Given the description of an element on the screen output the (x, y) to click on. 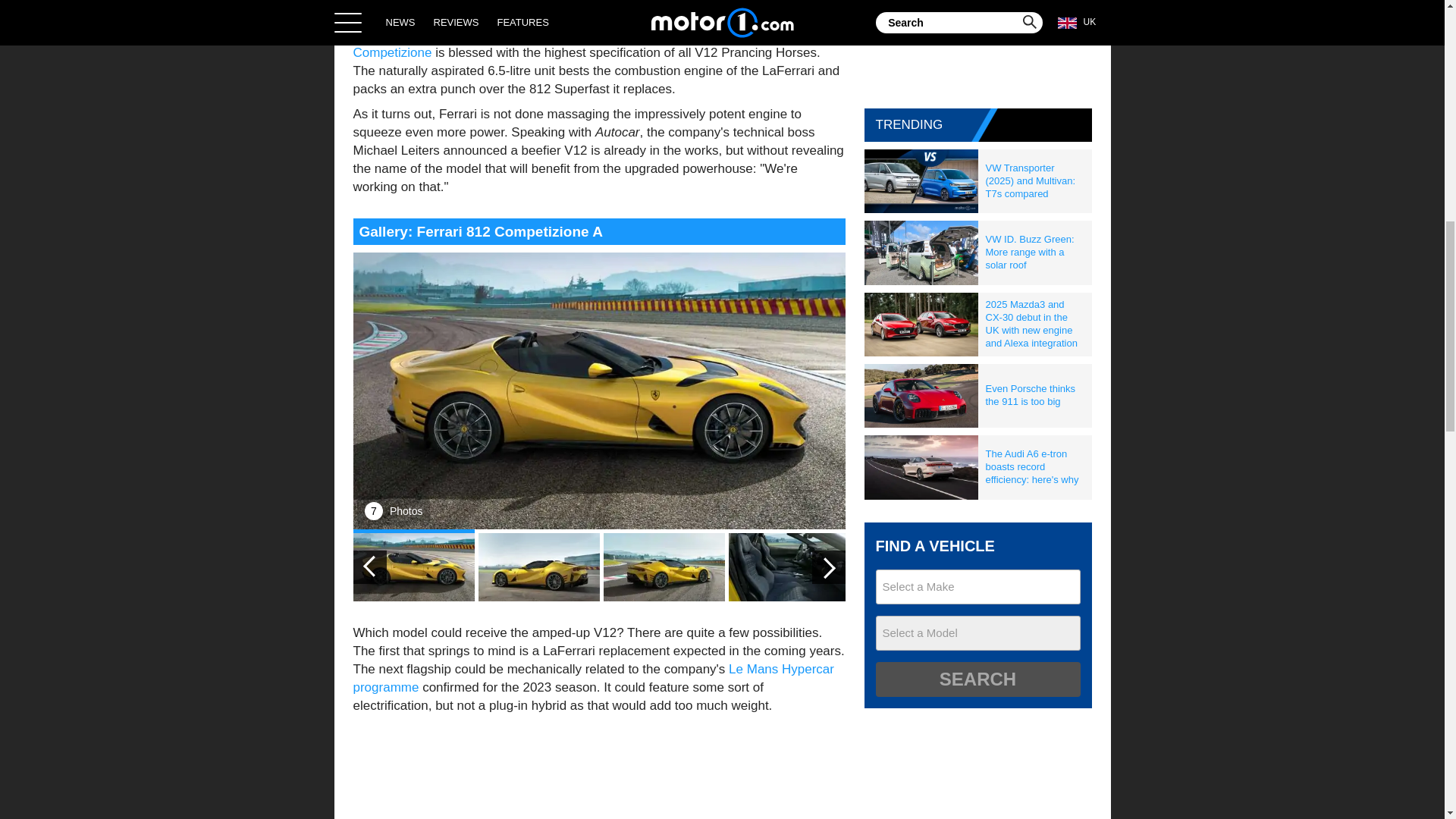
Ferrari 812 Competizione (576, 43)
Le Mans Hypercar programme (593, 677)
Search (977, 678)
